Given the description of an element on the screen output the (x, y) to click on. 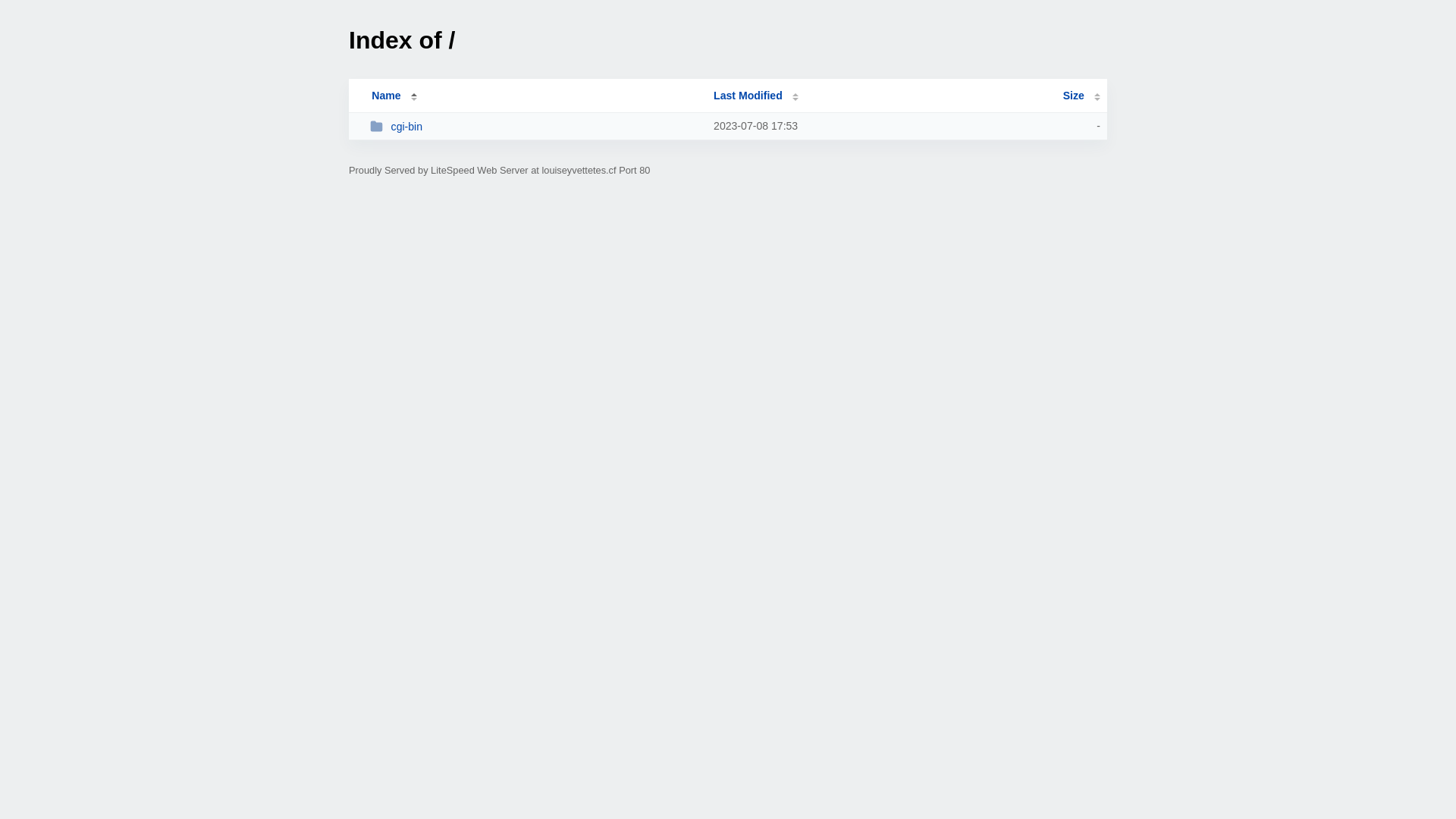
Name Element type: text (385, 95)
Size Element type: text (1081, 95)
cgi-bin Element type: text (534, 125)
Last Modified Element type: text (755, 95)
